Given the description of an element on the screen output the (x, y) to click on. 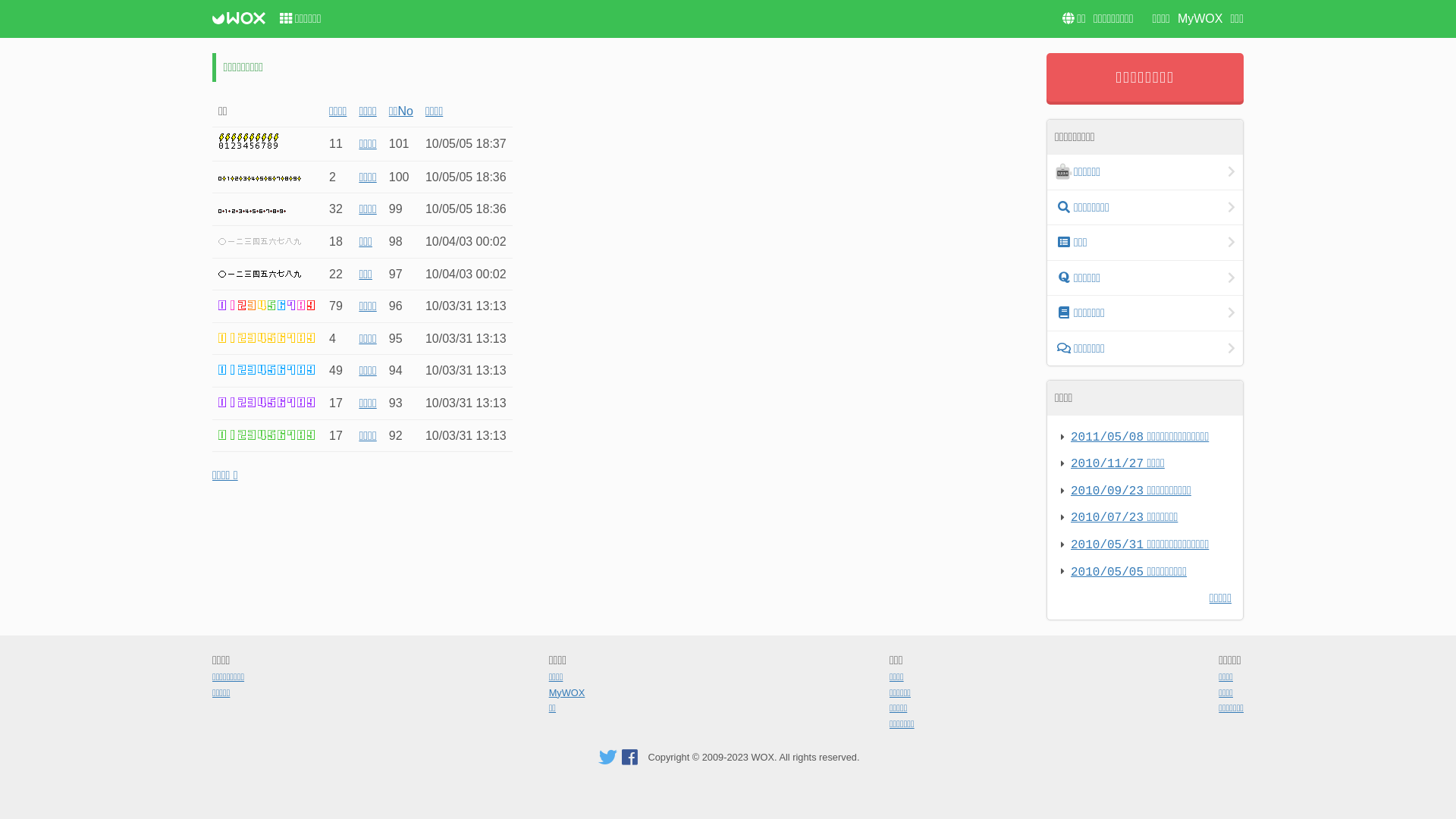
MyWOX Element type: text (1200, 18)
MyWOX Element type: text (567, 692)
